Given the description of an element on the screen output the (x, y) to click on. 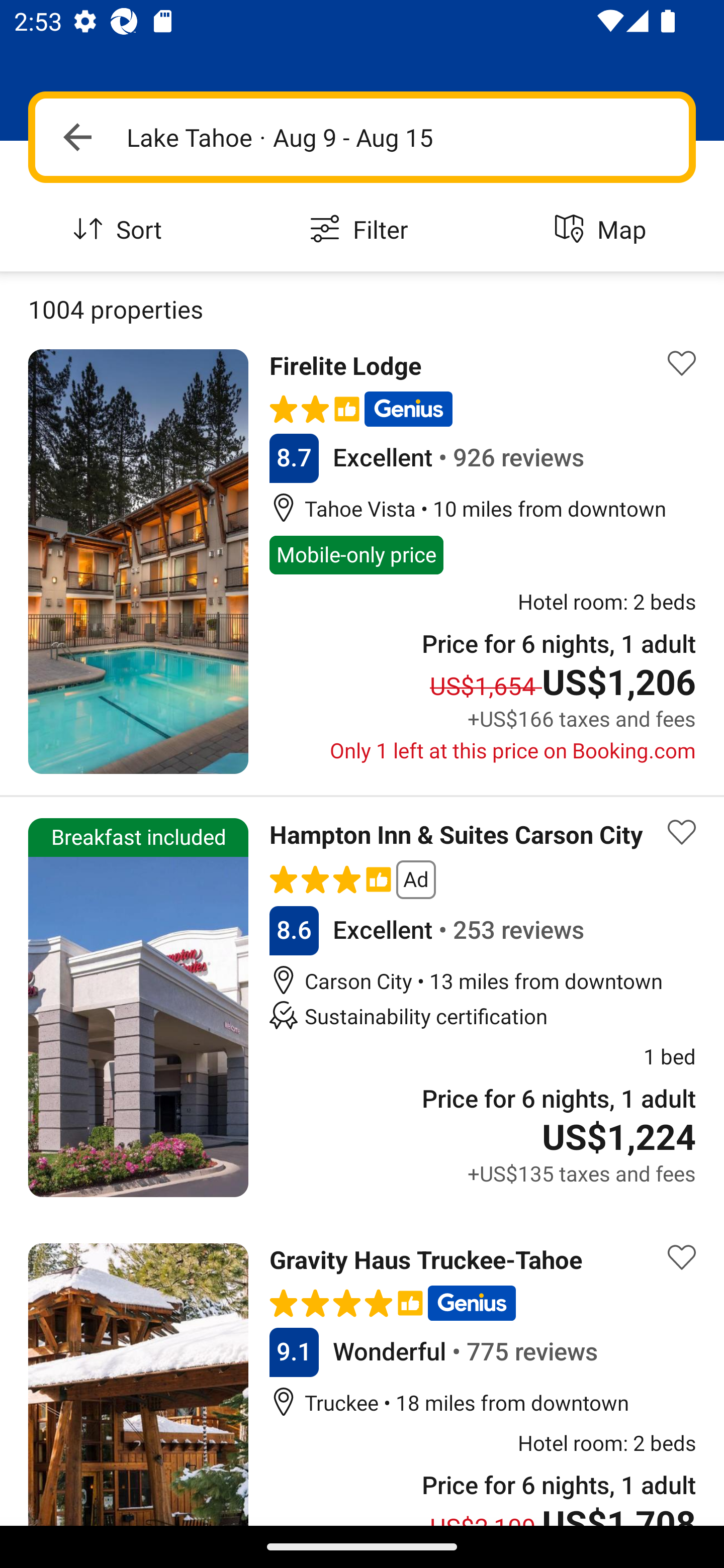
Navigate up Lake Tahoe · Aug 9 - Aug 15 (362, 136)
Navigate up (77, 136)
Sort (120, 230)
Filter (361, 230)
Map (603, 230)
Save property to list (681, 363)
Save property to list (681, 832)
Save property to list (681, 1257)
